Given the description of an element on the screen output the (x, y) to click on. 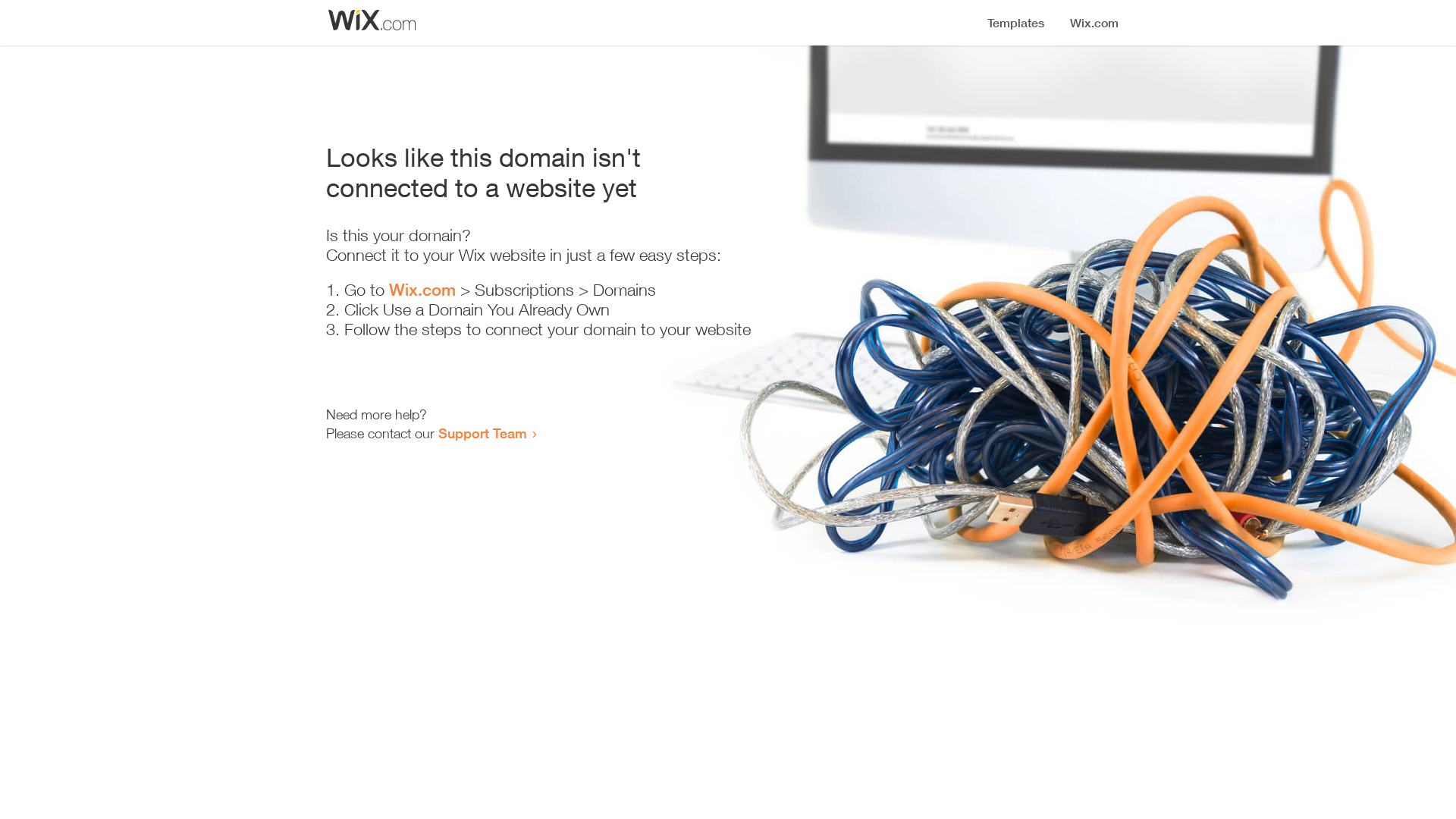
Support Team Element type: text (482, 432)
Wix.com Element type: text (422, 289)
